Given the description of an element on the screen output the (x, y) to click on. 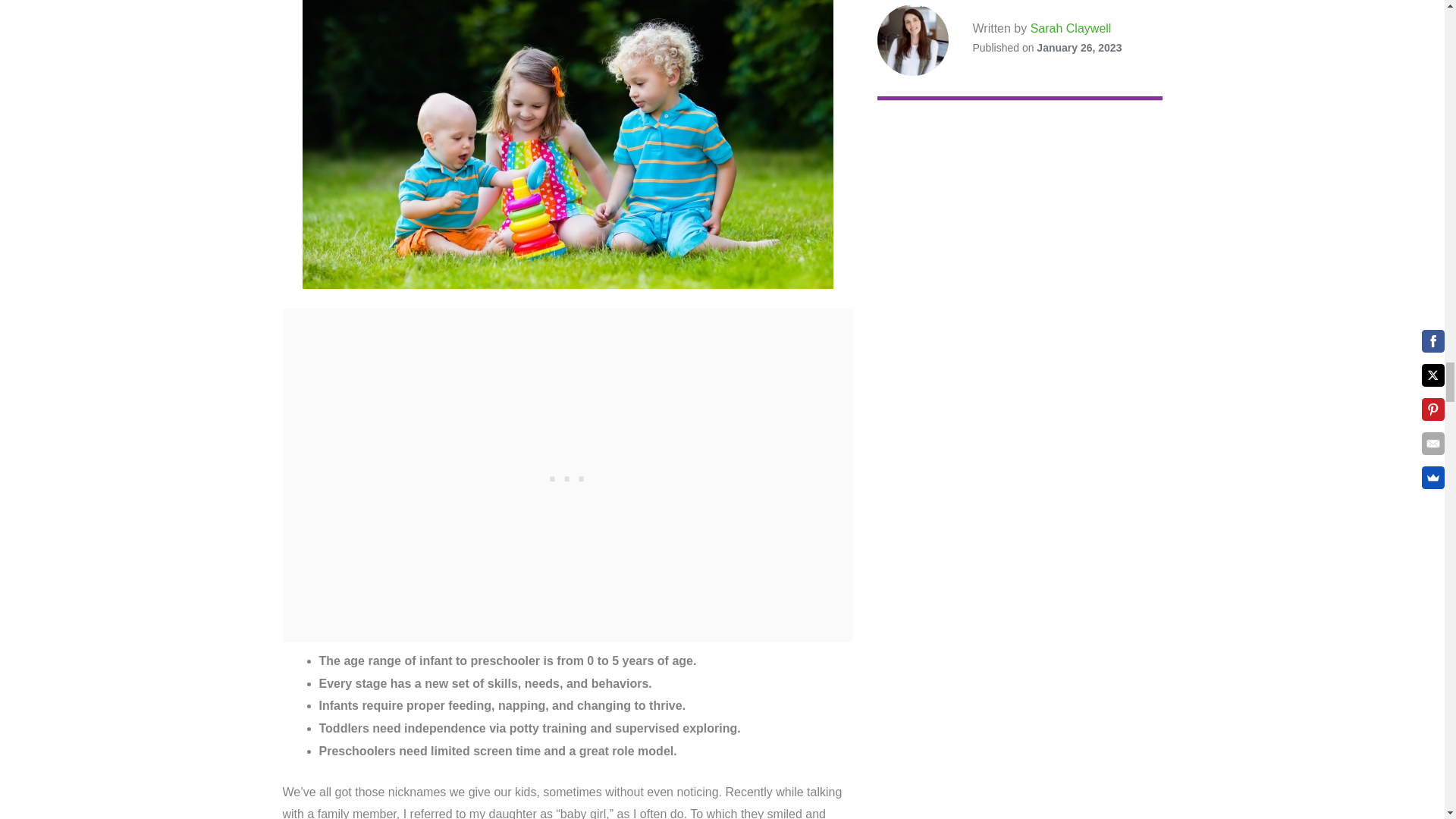
sarah-claywell (911, 40)
